Given the description of an element on the screen output the (x, y) to click on. 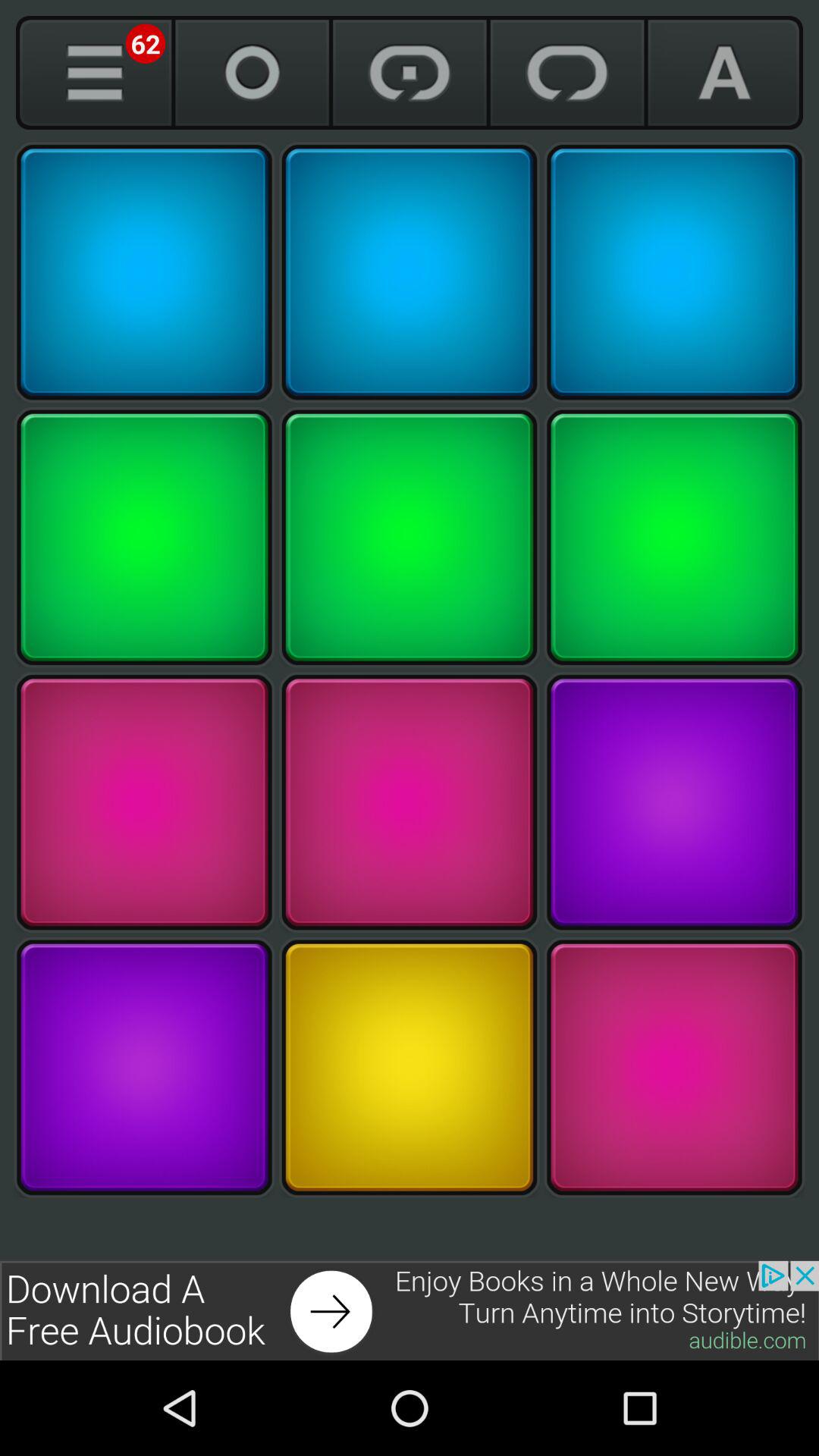
green button (409, 537)
